Given the description of an element on the screen output the (x, y) to click on. 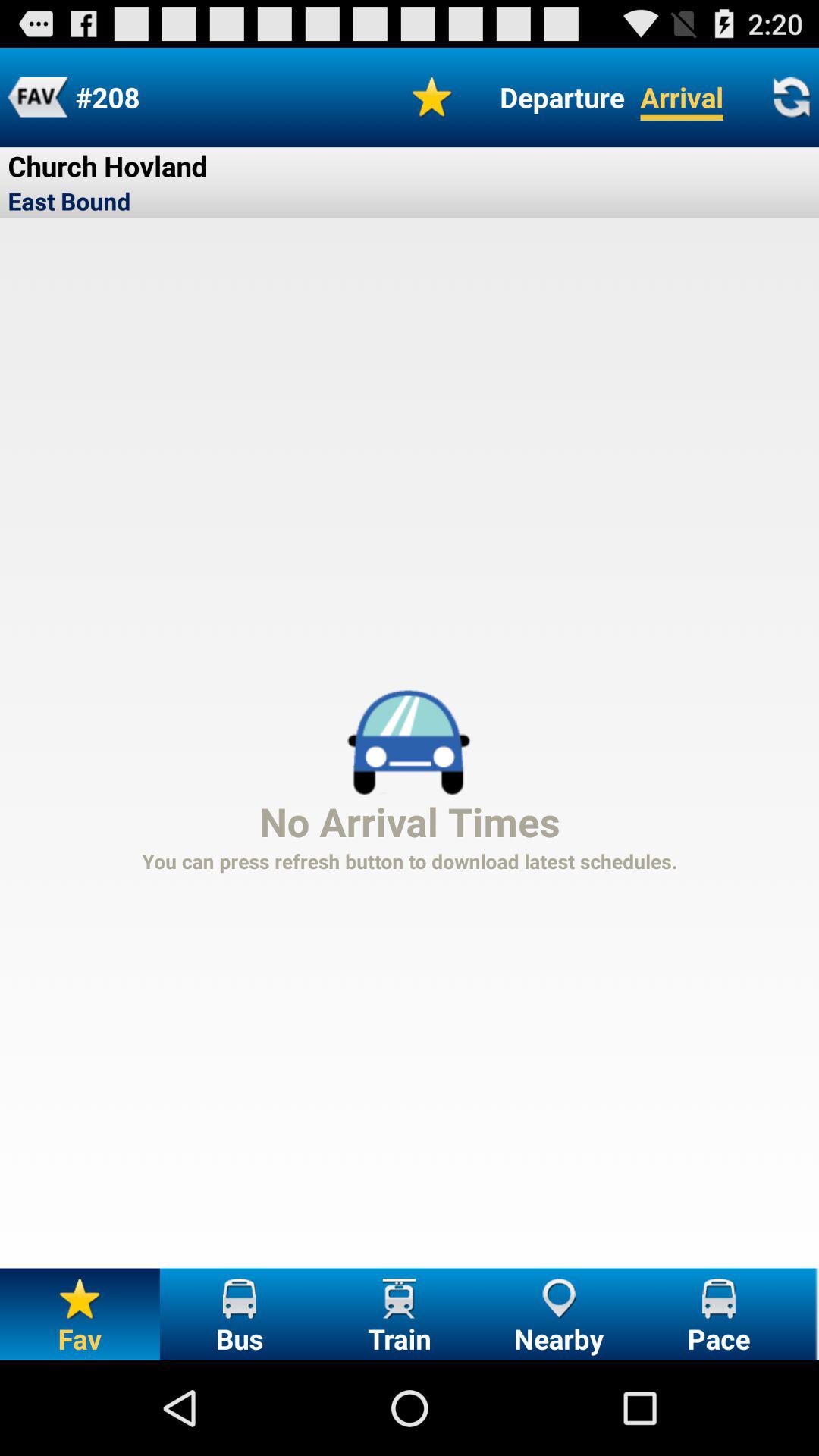
add as favorite (432, 97)
